Given the description of an element on the screen output the (x, y) to click on. 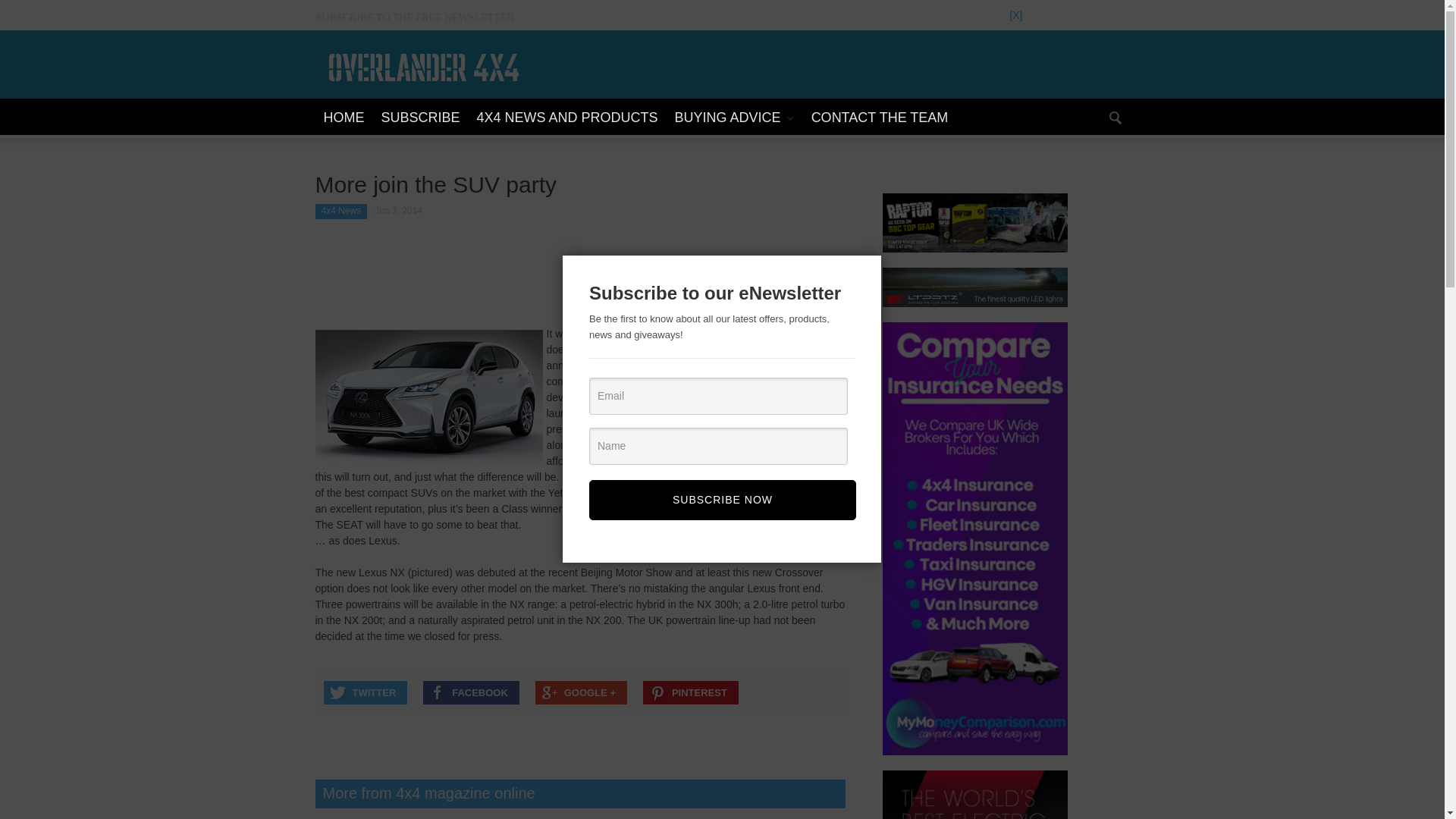
4X4 NEWS AND PRODUCTS (567, 118)
4x4 News (341, 211)
FACEBOOK (471, 692)
Name (718, 446)
HOME (343, 118)
SUBSCRIBE TO THE FREE NEWSLETTER (419, 17)
Money Comparison (974, 538)
TWITTER (365, 692)
Advertisement (580, 276)
Email (718, 395)
PINTEREST (690, 692)
Storm Xcessories (974, 794)
CONTACT THE TEAM (879, 118)
U Pol (974, 222)
SUBSCRIBE (420, 118)
